Given the description of an element on the screen output the (x, y) to click on. 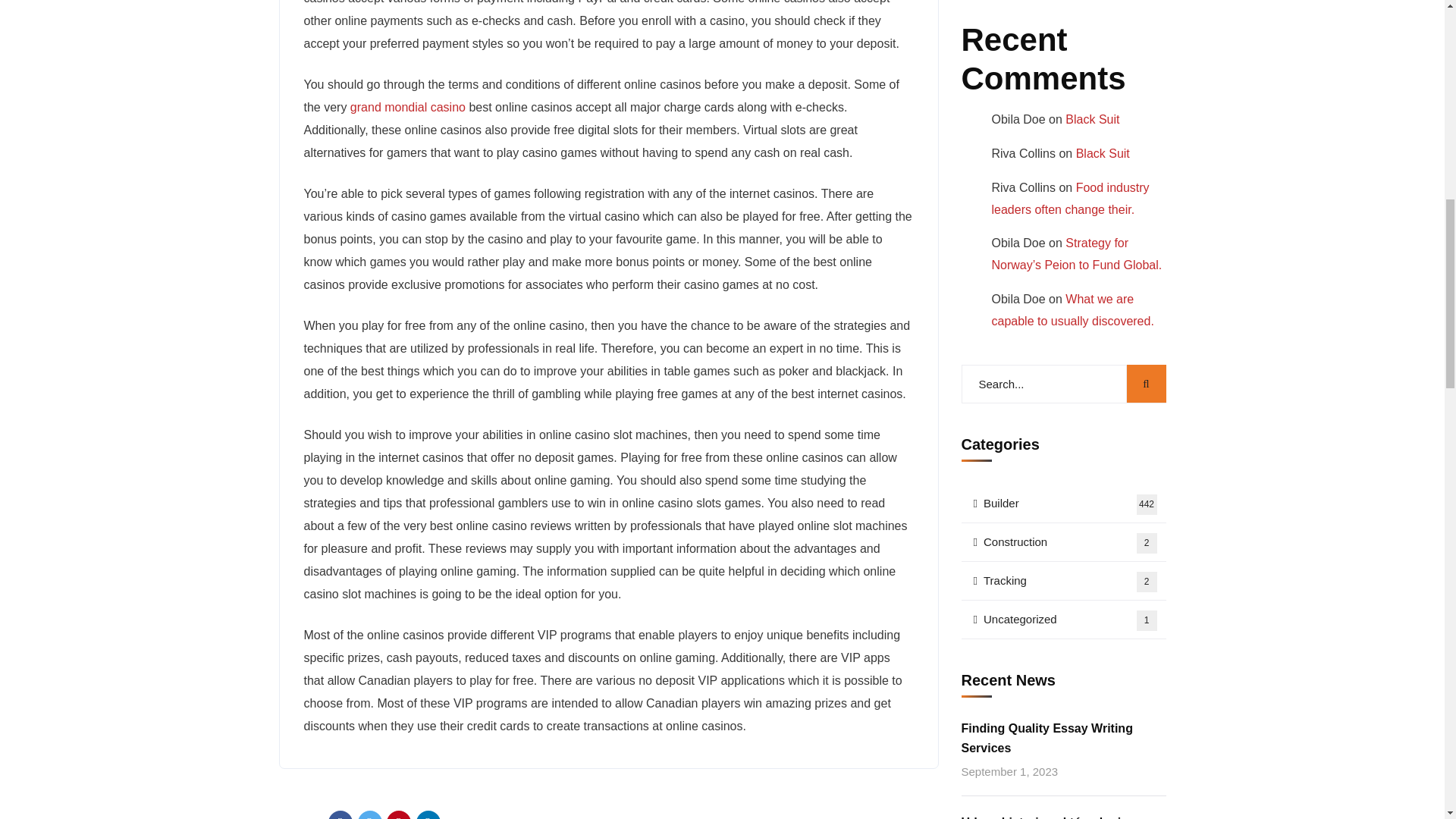
Pinterest (398, 814)
Twitter (369, 814)
Facebook (340, 814)
Finding Quality Essay Writing Services (1063, 738)
LinkedIn (428, 814)
